Given the description of an element on the screen output the (x, y) to click on. 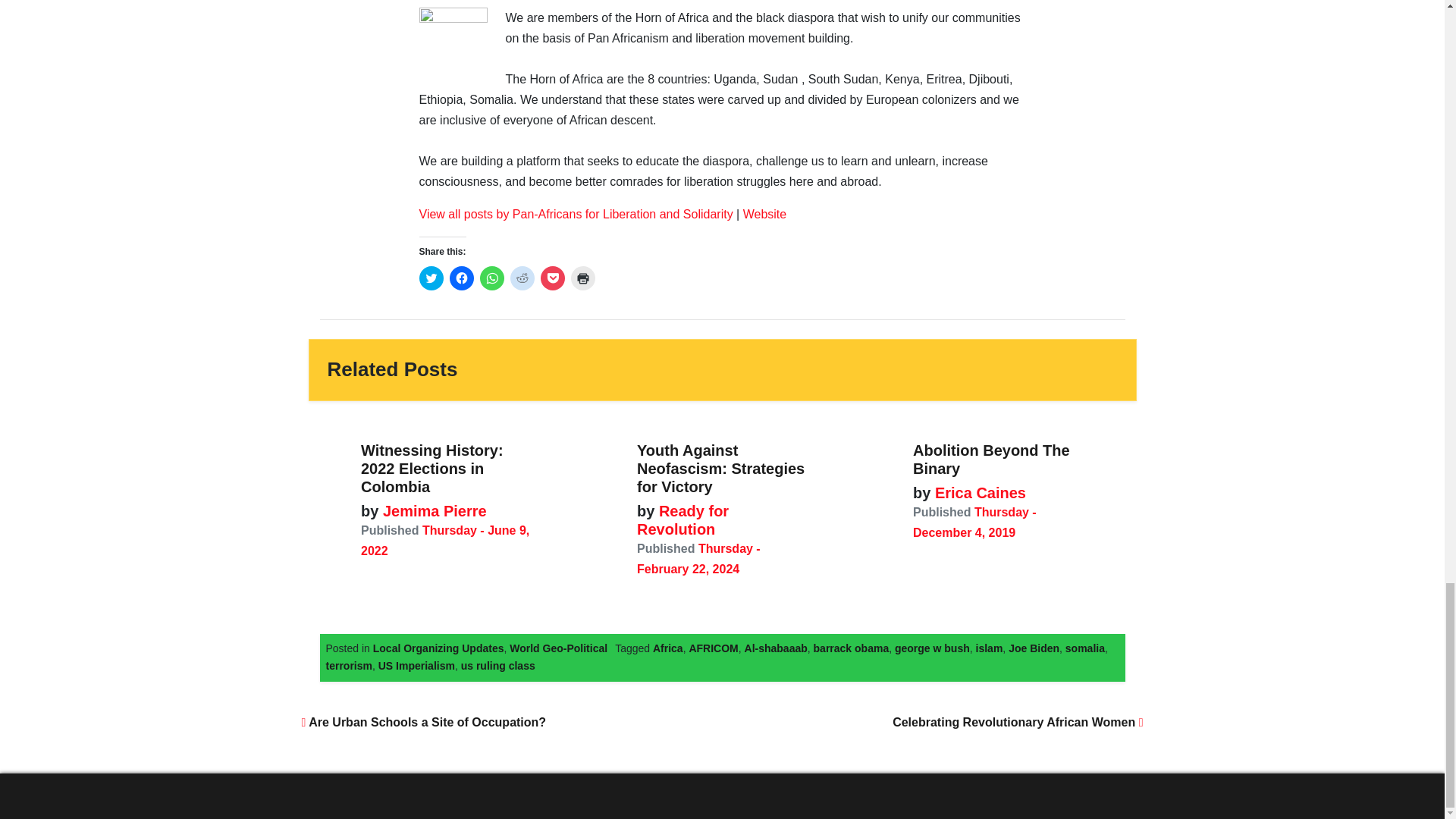
Thursday - June 9, 2022 (445, 540)
Ready for Revolution (683, 519)
Erica Caines (978, 492)
Jemima Pierre (432, 510)
Youth Against Neofascism: Strategies for Victory (721, 468)
View all posts by Pan-Africans for Liberation and Solidarity (575, 214)
Abolition Beyond The Binary (991, 459)
Thursday - February 22, 2024 (698, 558)
Website (764, 214)
Witnessing History: 2022 Elections in Colombia (432, 468)
